Given the description of an element on the screen output the (x, y) to click on. 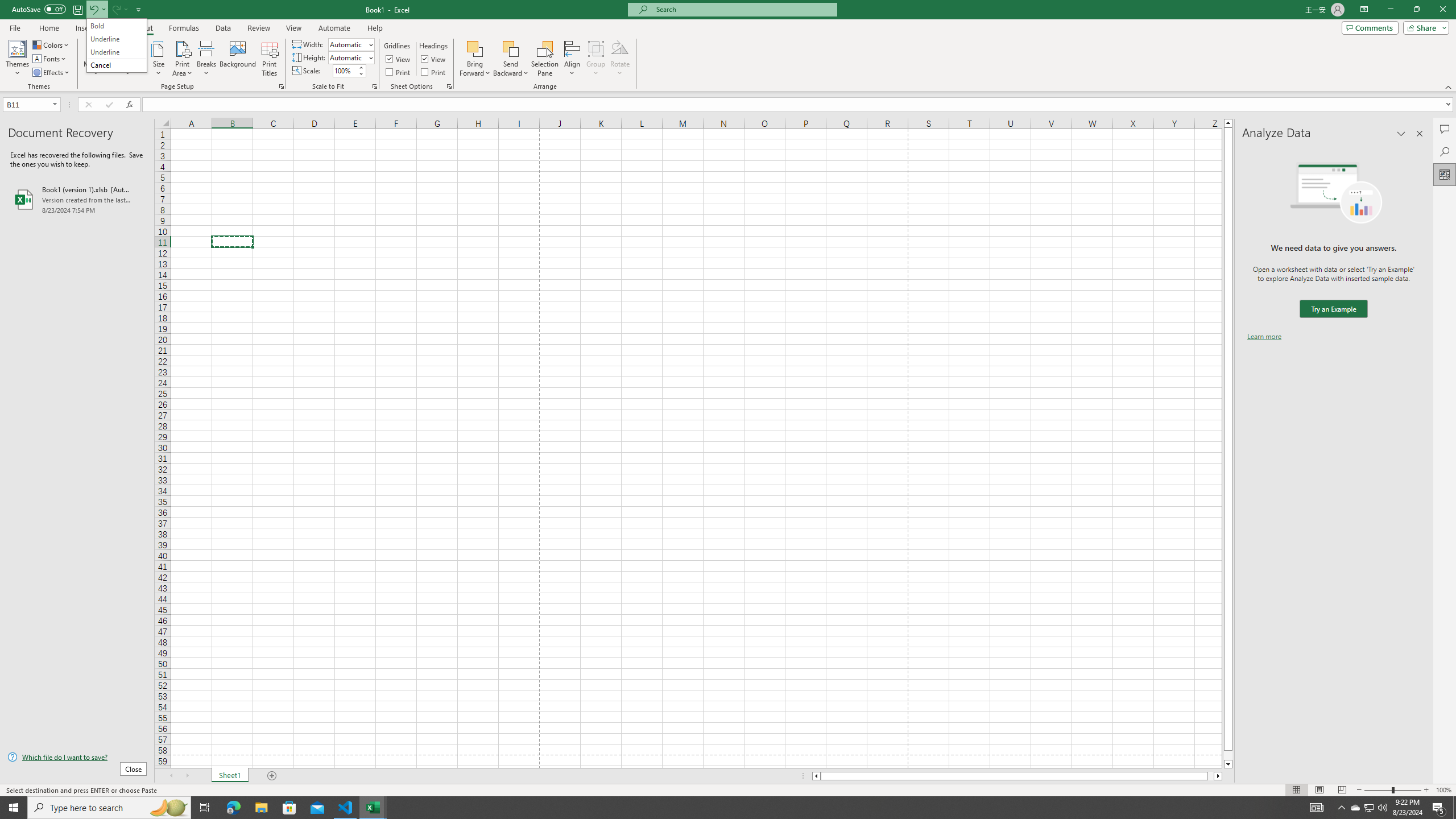
Page Setup (374, 85)
Breaks (206, 58)
User Promoted Notification Area (1368, 807)
Start (13, 807)
Align (571, 58)
Notification Chevron (1341, 807)
Q2790: 100% (1382, 807)
Rotate (619, 58)
